Given the description of an element on the screen output the (x, y) to click on. 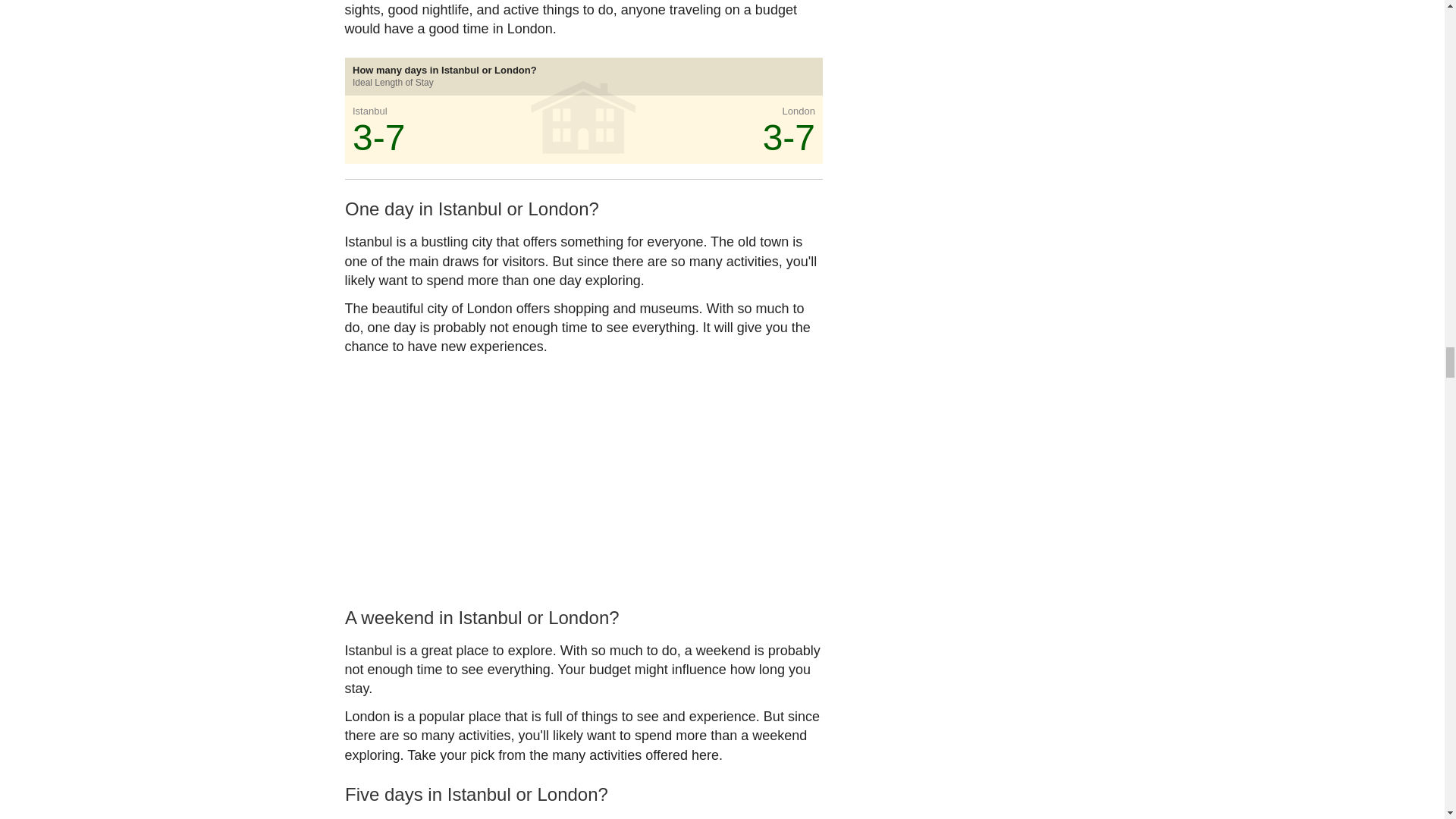
The Best 3-Day Tours in United Kingdom (599, 744)
The Best Budget Tours to Turkey (695, 707)
The Best Tours for Seniors to Turkey (453, 726)
